Given the description of an element on the screen output the (x, y) to click on. 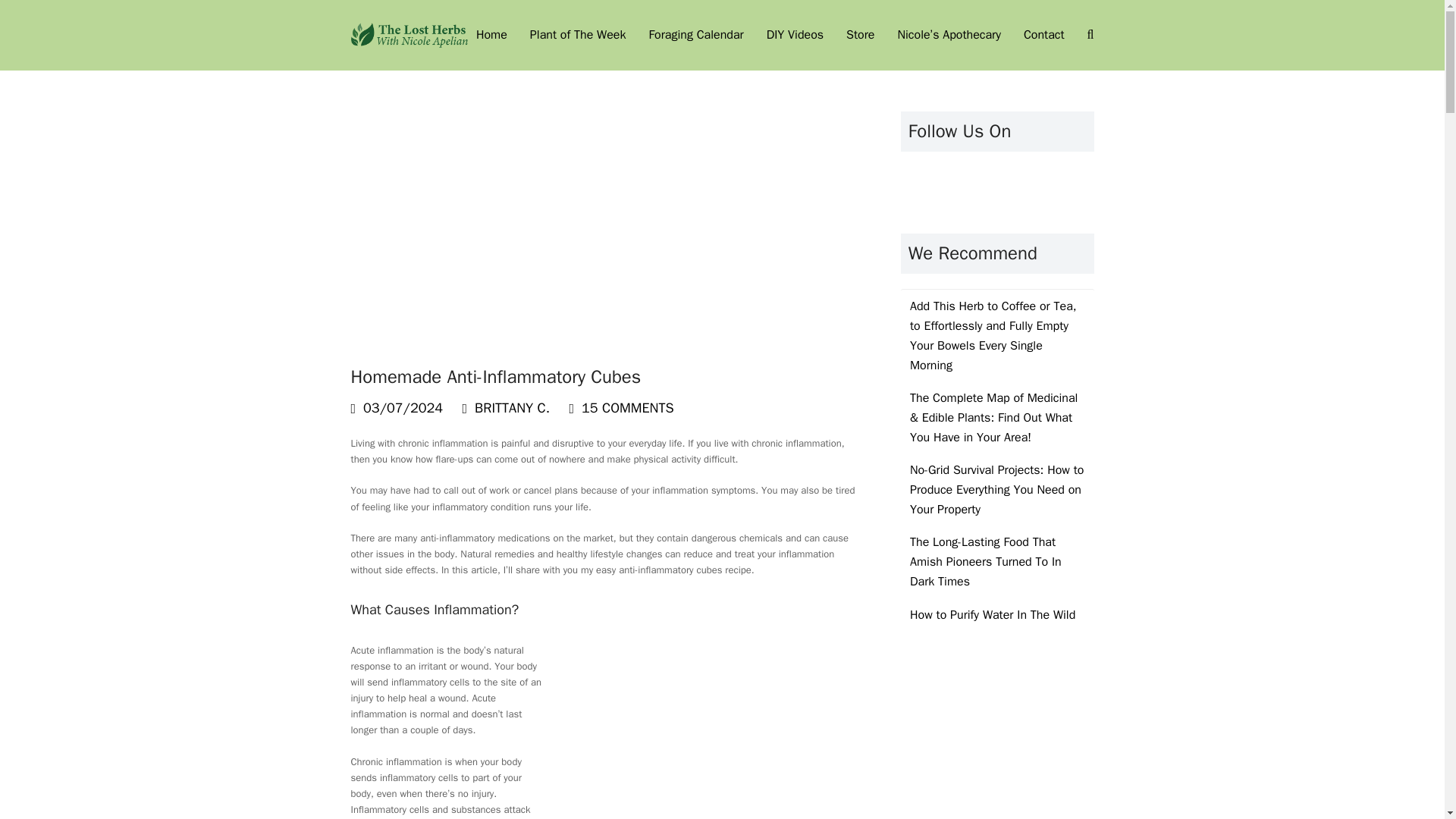
Foraging Calendar (695, 35)
Plant of The Week (577, 35)
15 COMMENTS (620, 408)
Store (859, 35)
Contact (1043, 35)
BRITTANY C. (512, 407)
Home (491, 35)
15 COMMENTS (627, 408)
Posts by Brittany C. (512, 407)
DIY Videos (794, 35)
